Given the description of an element on the screen output the (x, y) to click on. 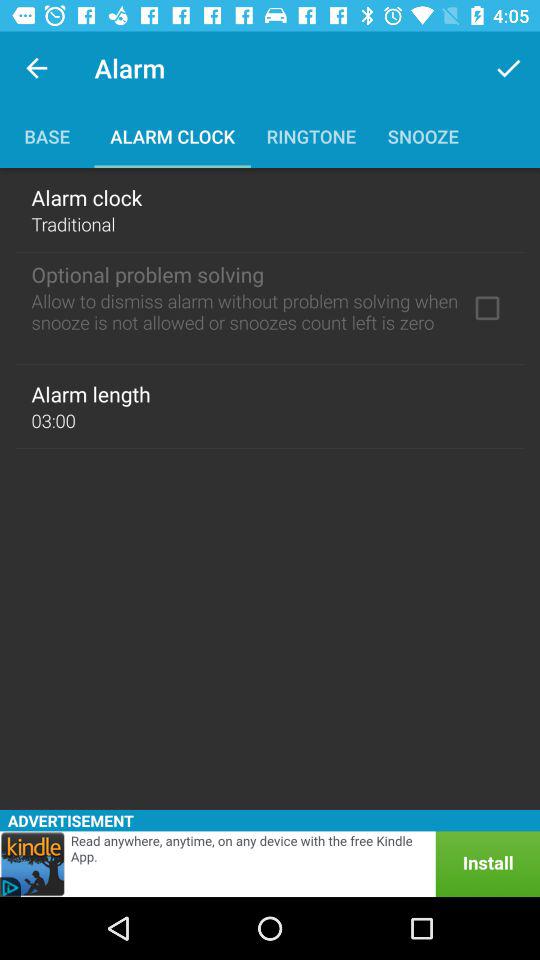
this is an advertisement click on it for more information (270, 864)
